Given the description of an element on the screen output the (x, y) to click on. 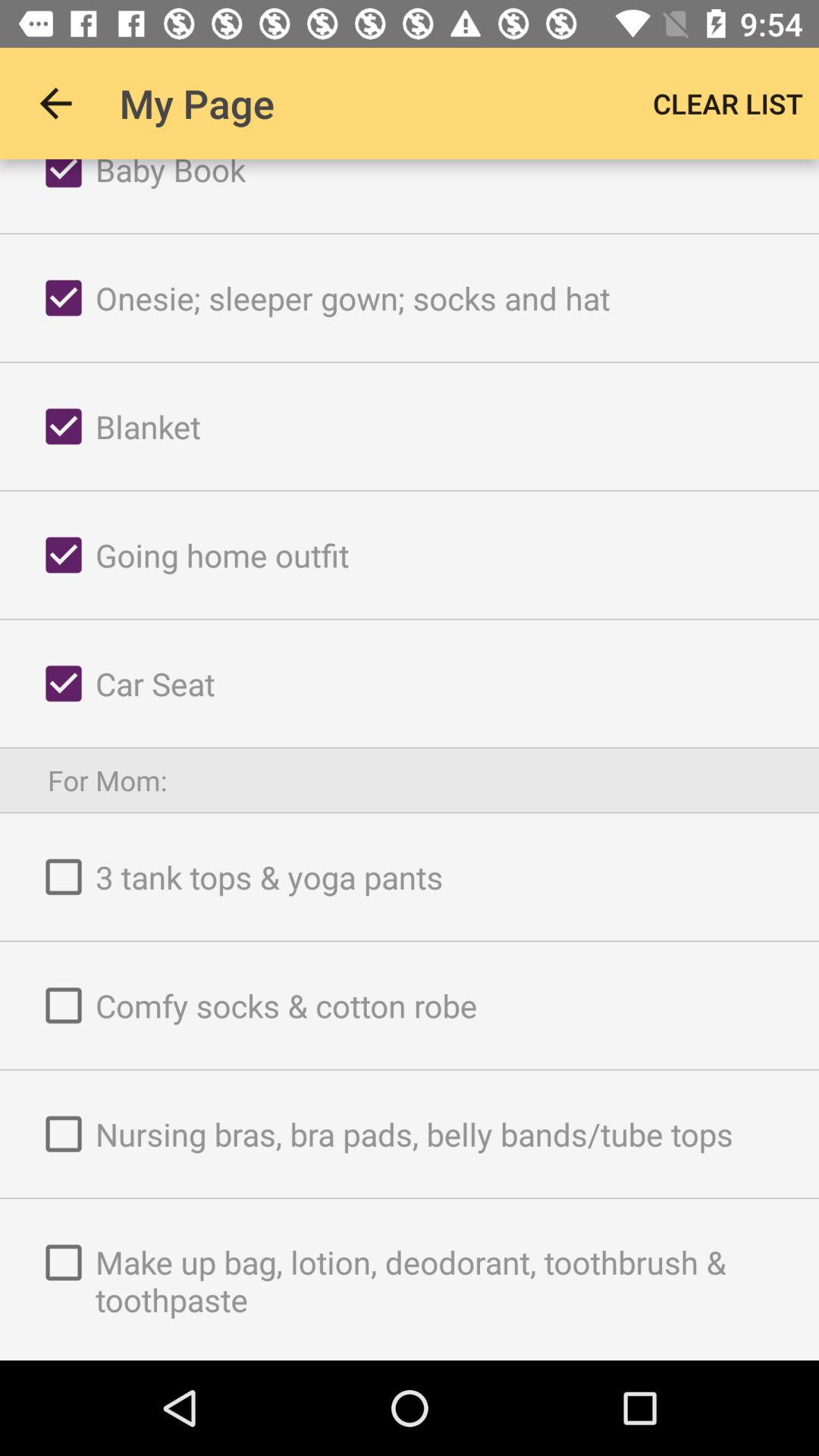
tap the item next to the my page (728, 103)
